Given the description of an element on the screen output the (x, y) to click on. 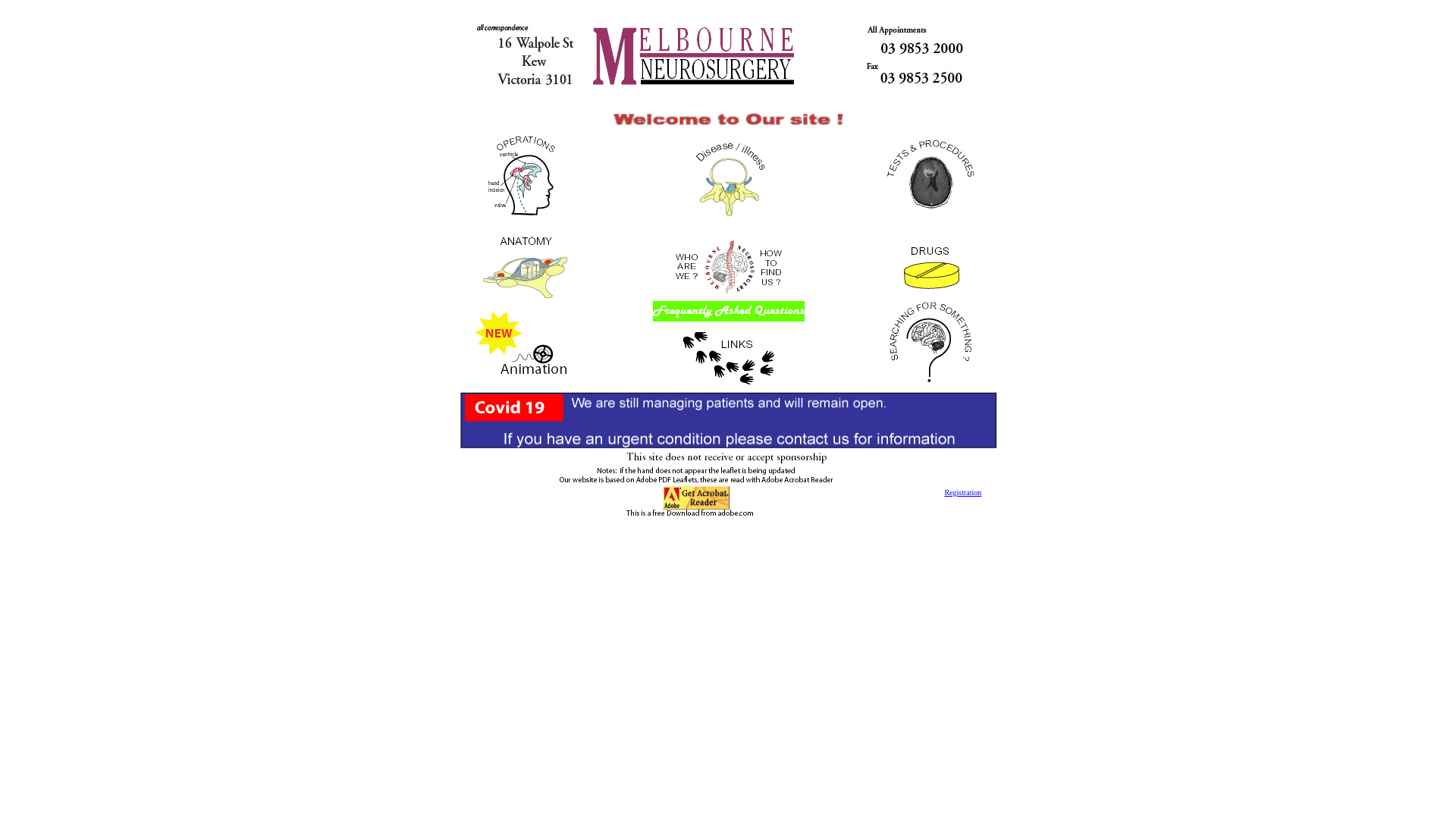
Registration Element type: text (962, 492)
The tests you may have Element type: hover (930, 225)
